Given the description of an element on the screen output the (x, y) to click on. 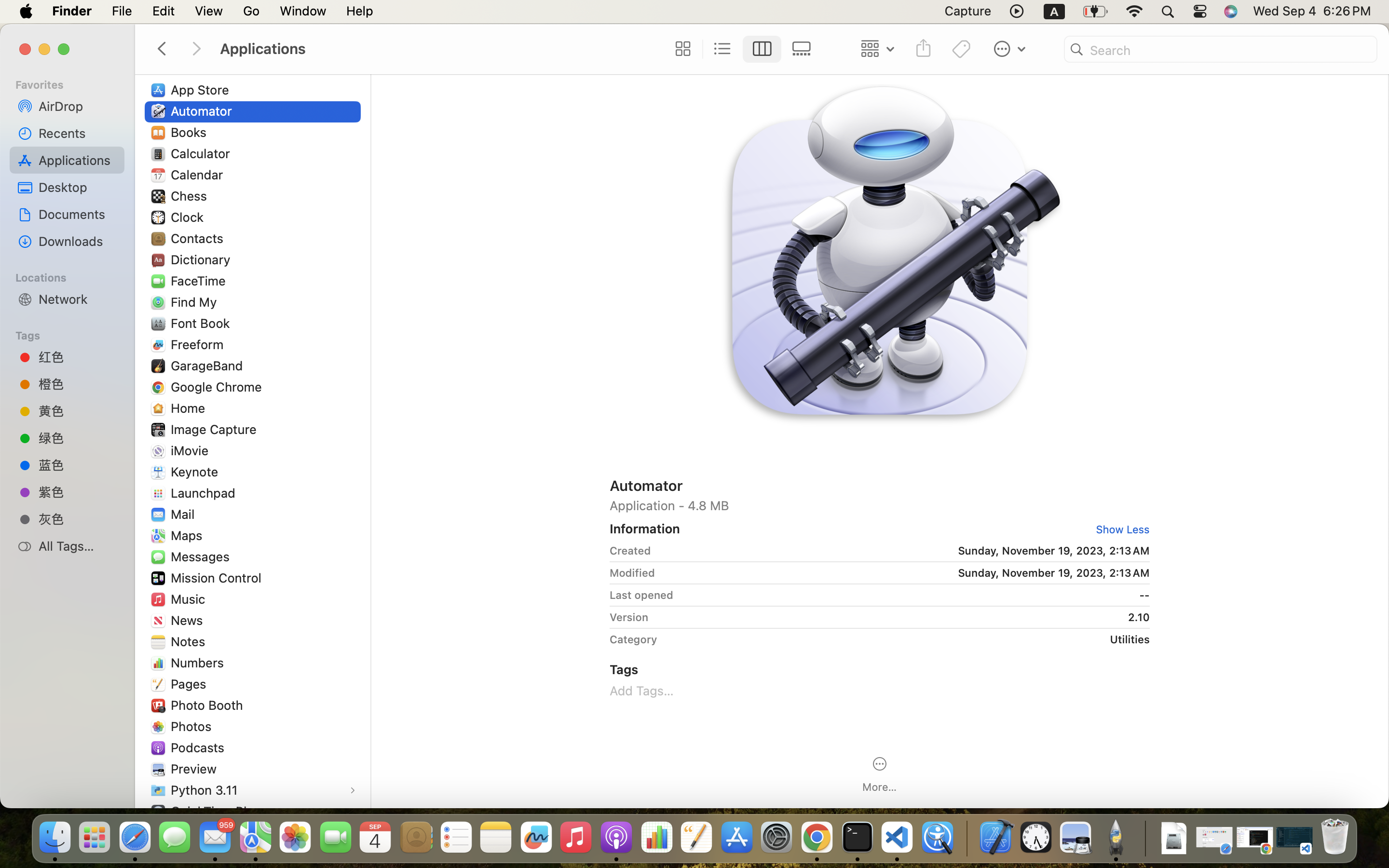
Font Book Element type: AXTextField (202, 322)
Calculator Element type: AXTextField (202, 153)
Keynote Element type: AXTextField (196, 471)
Category Element type: AXStaticText (632, 639)
Google Chrome Element type: AXTextField (218, 386)
